Given the description of an element on the screen output the (x, y) to click on. 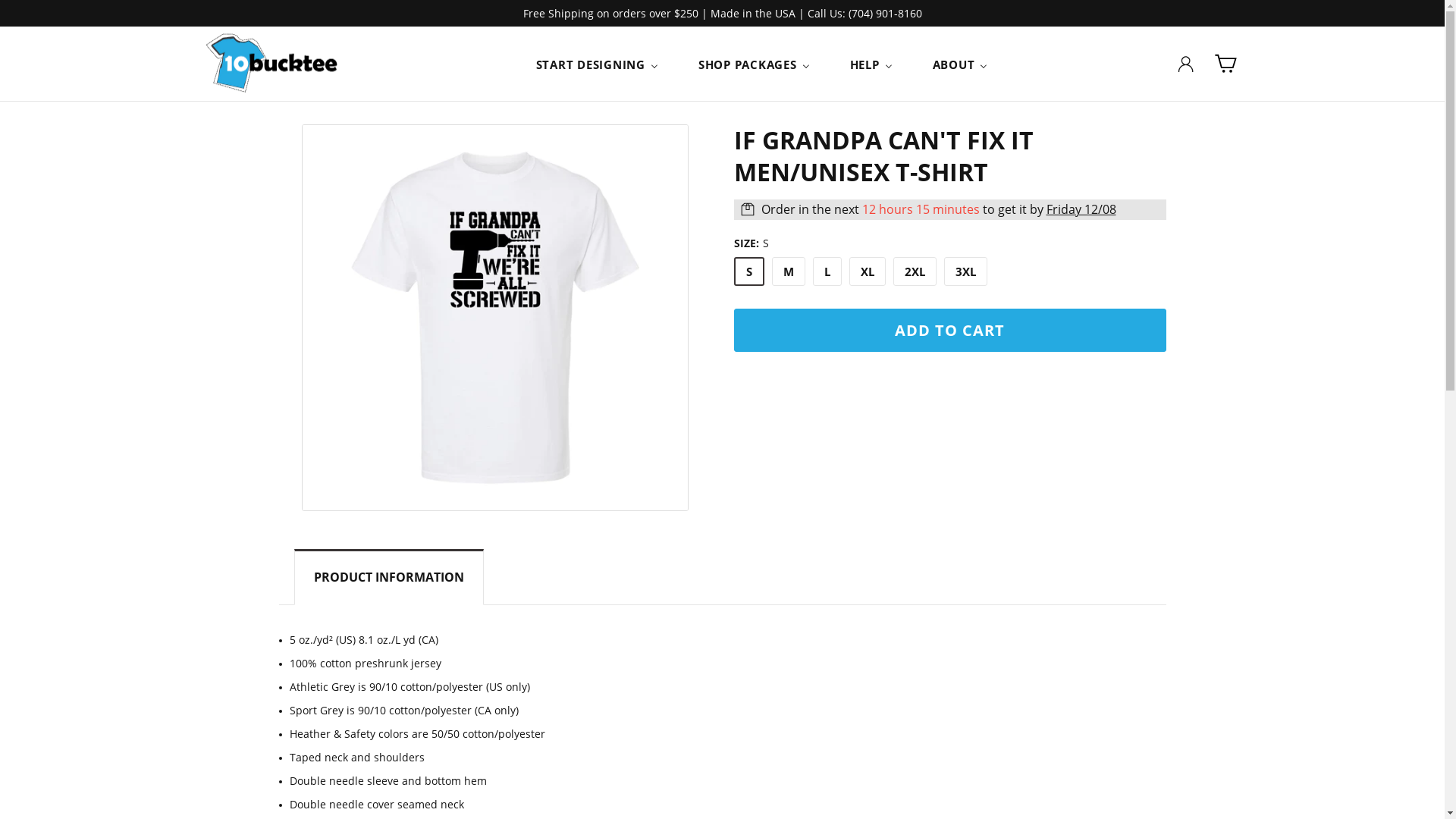
SHOP PACKAGES Element type: text (754, 63)
START DESIGNING Element type: text (597, 63)
10bucktee Element type: text (272, 63)
HELP Element type: text (871, 63)
ABOUT Element type: text (960, 63)
ADD TO CART Element type: text (950, 329)
